Given the description of an element on the screen output the (x, y) to click on. 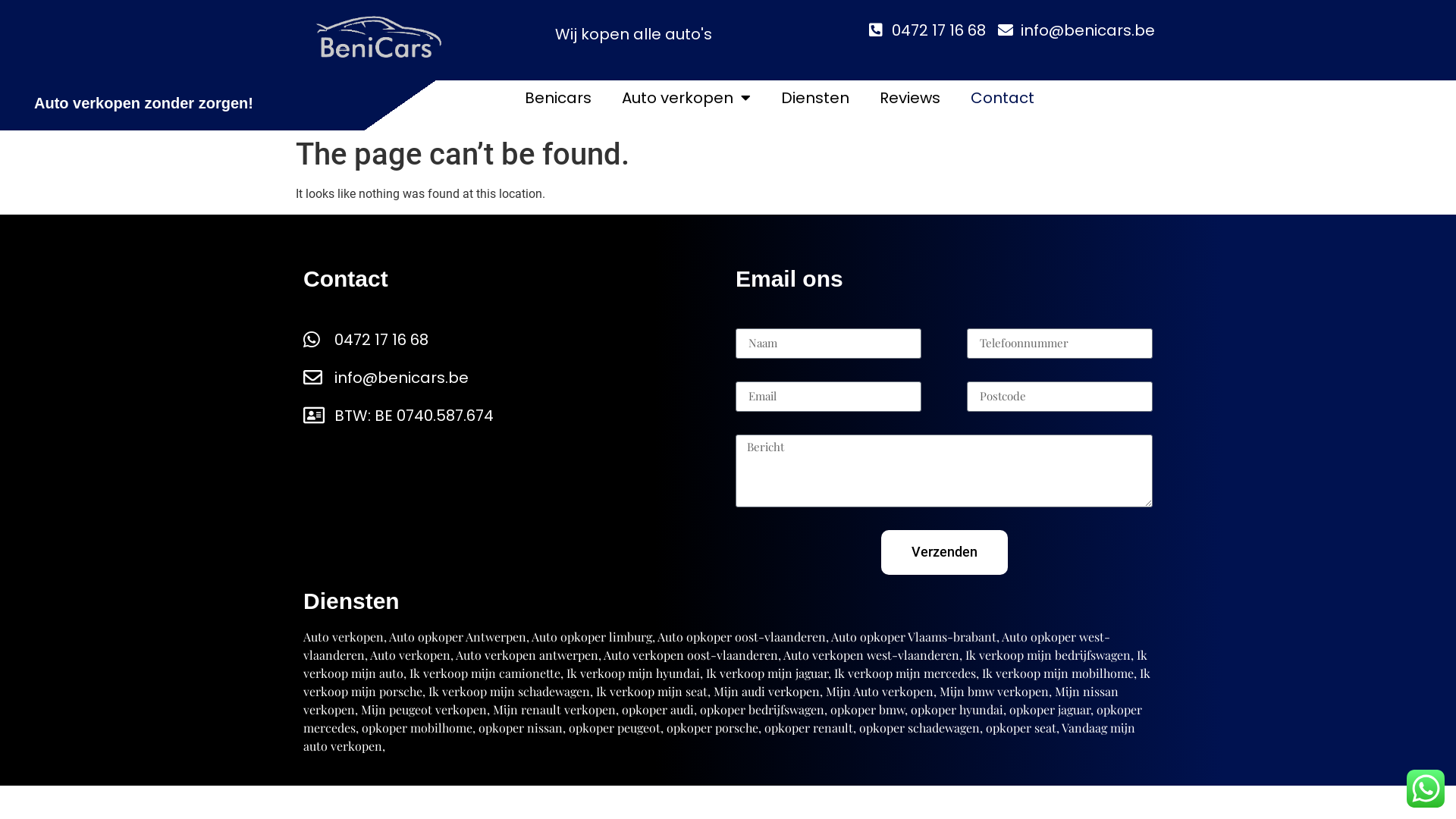
opkoper renault, Element type: text (810, 727)
opkoper peugeot, Element type: text (615, 727)
Ik verkoop mijn auto, Element type: text (725, 663)
Ik verkoop mijn camionette, Element type: text (486, 672)
opkoper jaguar, Element type: text (1051, 709)
Auto opkoper west-vlaanderen, Element type: text (706, 645)
Auto verkopen Element type: text (343, 636)
0472 17 16 68 Element type: text (927, 29)
info@benicars.be Element type: text (1075, 29)
Ik verkoop mijn mobilhome, Element type: text (1059, 672)
opkoper schadewagen, Element type: text (920, 727)
Auto verkopen, Element type: text (411, 654)
Benicars Element type: text (557, 97)
Mijn bmw verkopen, Element type: text (995, 691)
Auto opkoper oost-vlaanderen, Element type: text (742, 636)
Ik verkoop mijn hyundai, Element type: text (634, 672)
Mijn nissan verkopen, Element type: text (710, 700)
opkoper porsche, Element type: text (713, 727)
opkoper seat, Element type: text (1022, 727)
opkoper bmw, Element type: text (868, 709)
Ik verkoop mijn mercedes, Element type: text (906, 672)
Verzenden Element type: text (944, 552)
opkoper bedrijfswagen, Element type: text (763, 709)
Auto opkoper Antwerpen, Element type: text (460, 636)
Auto verkopen Element type: text (685, 97)
Mijn renault verkopen, Element type: text (555, 709)
Auto verkopen antwerpen, Element type: text (528, 654)
Mijn audi verkopen, Element type: text (767, 691)
Auto opkoper limburg, Element type: text (594, 636)
Ik verkoop mijn bedrijfswagen, Element type: text (1049, 654)
Auto opkoper Vlaams-brabant, Element type: text (915, 636)
Ik verkoop mijn seat, Element type: text (653, 691)
Vandaag mijn auto verkopen, Element type: text (719, 736)
Mijn Auto verkopen, Element type: text (880, 691)
Auto verkopen west-vlaanderen, Element type: text (872, 654)
Mijn peugeot verkopen, Element type: text (424, 709)
Reviews Element type: text (909, 97)
opkoper nissan, Element type: text (521, 727)
Contact Element type: text (1002, 97)
0472 17 16 68 Element type: text (511, 339)
opkoper mobilhome, Element type: text (418, 727)
opkoper mercedes, Element type: text (722, 718)
opkoper hyundai, Element type: text (958, 709)
Ik verkoop mijn porsche, Element type: text (726, 682)
Diensten Element type: text (814, 97)
opkoper audi, Element type: text (658, 709)
Ik verkoop mijn schadewagen, Element type: text (510, 691)
Auto verkopen oost-vlaanderen, Element type: text (692, 654)
info@benicars.be Element type: text (511, 377)
Ik verkoop mijn jaguar, Element type: text (768, 672)
